Given the description of an element on the screen output the (x, y) to click on. 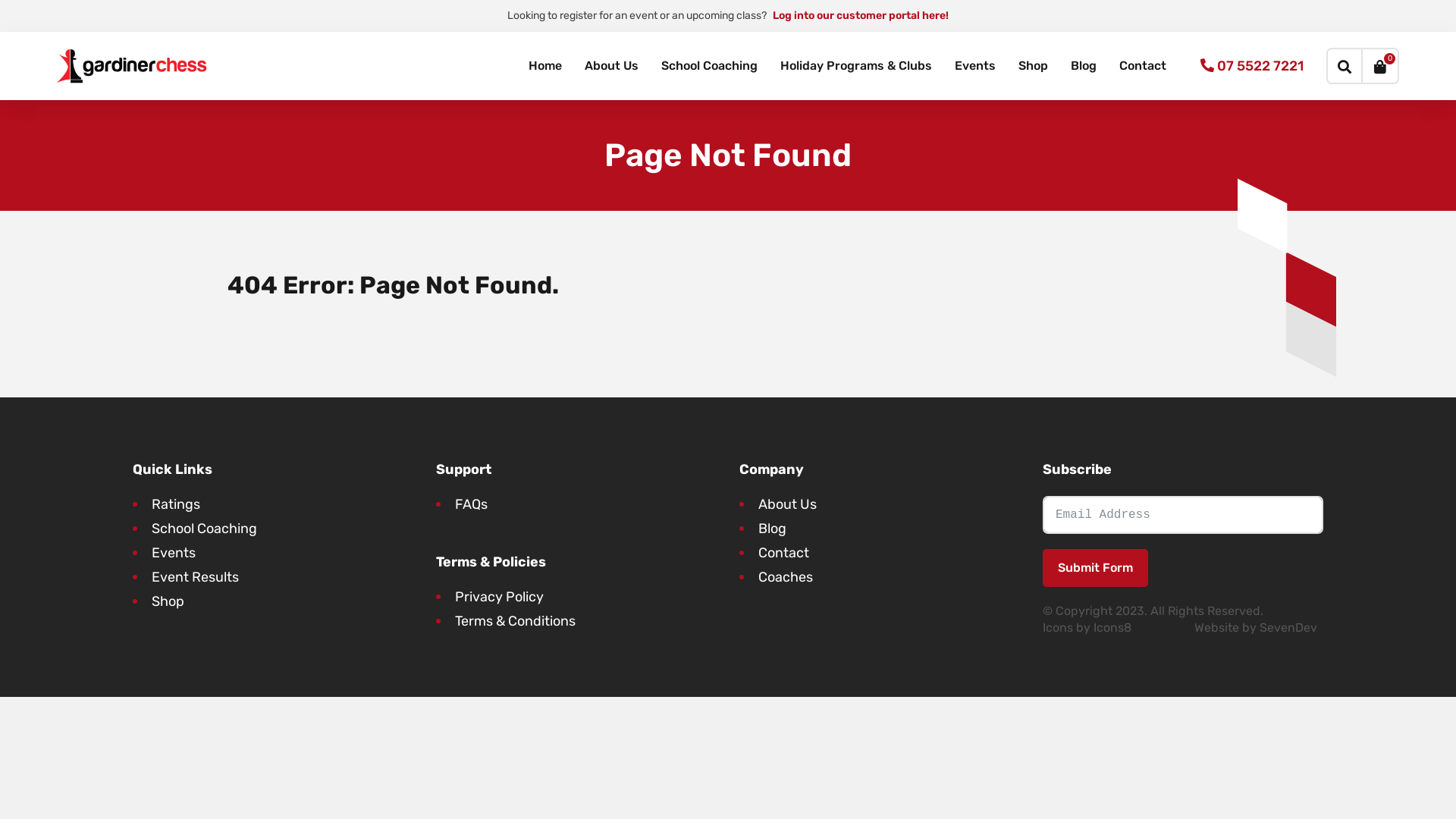
Contact Element type: text (783, 552)
About Us Element type: text (611, 65)
Events Element type: text (975, 65)
Website by SevenDev Element type: text (1255, 627)
Events Element type: text (173, 552)
Shop Element type: text (167, 601)
Privacy Policy Element type: text (499, 596)
School Coaching Element type: text (708, 65)
Submit Form Element type: text (1095, 567)
School Coaching Element type: text (204, 528)
About Us Element type: text (787, 503)
Log into our customer portal here! Element type: text (860, 15)
Holiday Programs & Clubs Element type: text (855, 65)
FAQs Element type: text (471, 503)
Terms & Conditions Element type: text (515, 620)
Event Results Element type: text (194, 576)
Blog Element type: text (772, 528)
0 Element type: text (1380, 65)
Ratings Element type: text (175, 503)
Home Element type: text (545, 65)
Shop Element type: text (1033, 65)
07 5522 7221 Element type: text (1251, 65)
Contact Element type: text (1142, 65)
Blog Element type: text (1083, 65)
Icons by Icons8 Element type: text (1086, 627)
Coaches Element type: text (785, 576)
